Given the description of an element on the screen output the (x, y) to click on. 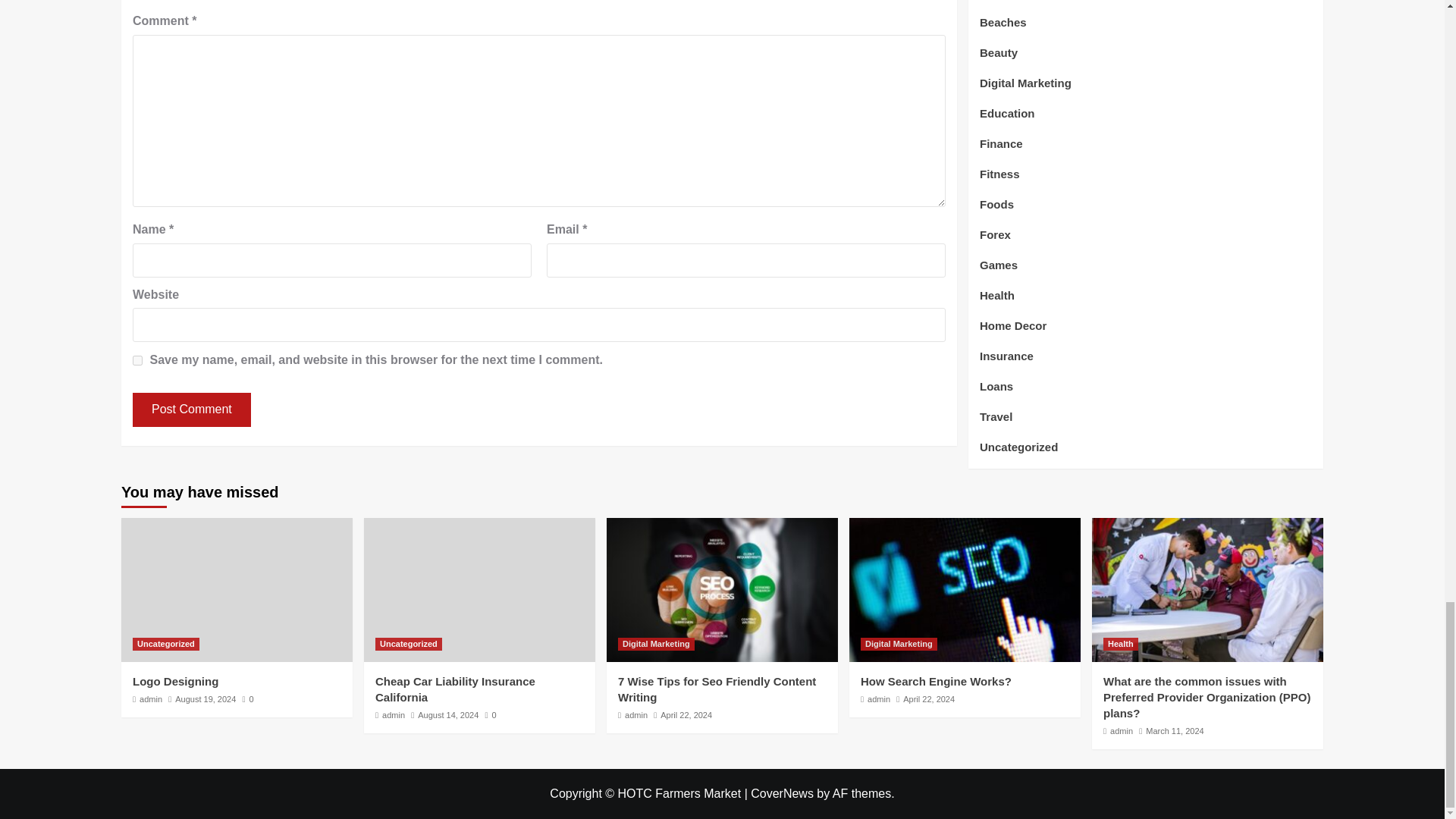
Post Comment (191, 409)
yes (137, 360)
Post Comment (191, 409)
